Given the description of an element on the screen output the (x, y) to click on. 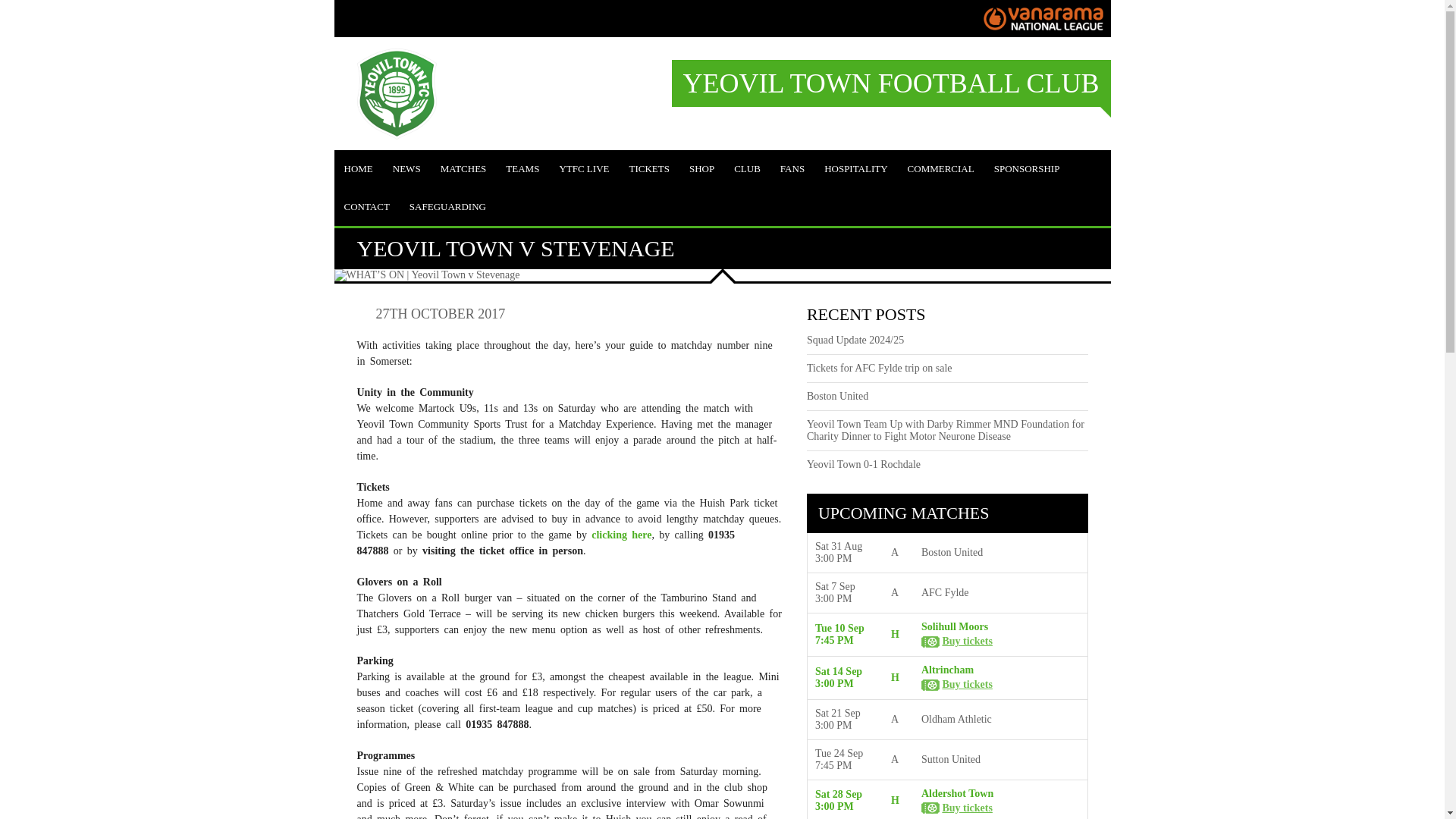
TEAMS (522, 168)
COMMERCIAL (941, 168)
FANS (791, 168)
MATCHES (463, 168)
TICKETS (648, 168)
NEWS (406, 168)
CLUB (746, 168)
SHOP (701, 168)
HOME (357, 168)
YTFC LIVE (583, 168)
